Given the description of an element on the screen output the (x, y) to click on. 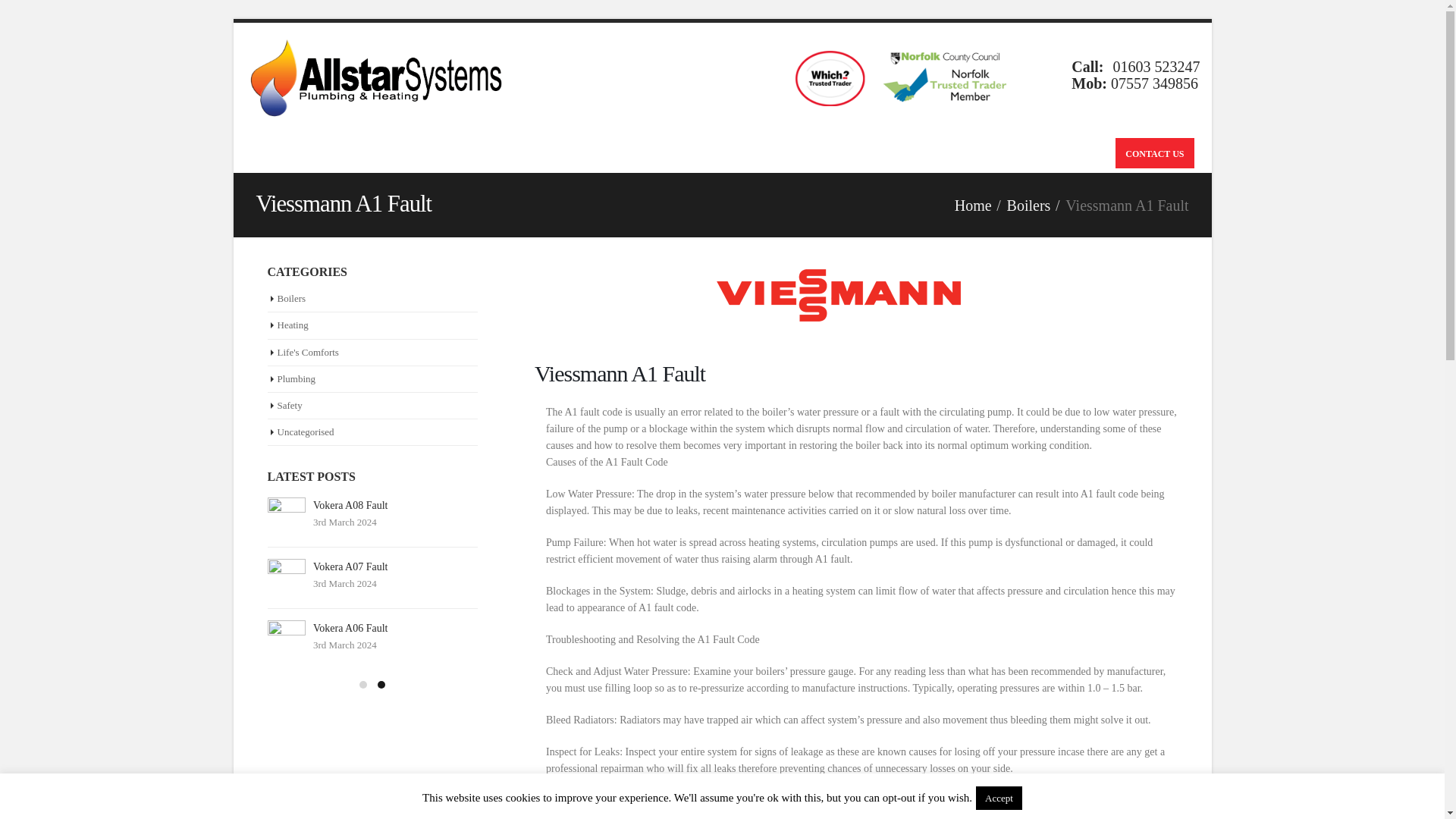
All Star Systems - Plumbing and Heating in Norwich, Norfolk (380, 77)
PLUMBING (499, 153)
RATES (695, 153)
HEATING (572, 153)
BOILERS (426, 153)
COMMERCIAL (344, 153)
CONTACT US (1154, 153)
ABOUT US (802, 153)
HOME (272, 153)
BLOG (745, 153)
FINANCE (640, 153)
